Given the description of an element on the screen output the (x, y) to click on. 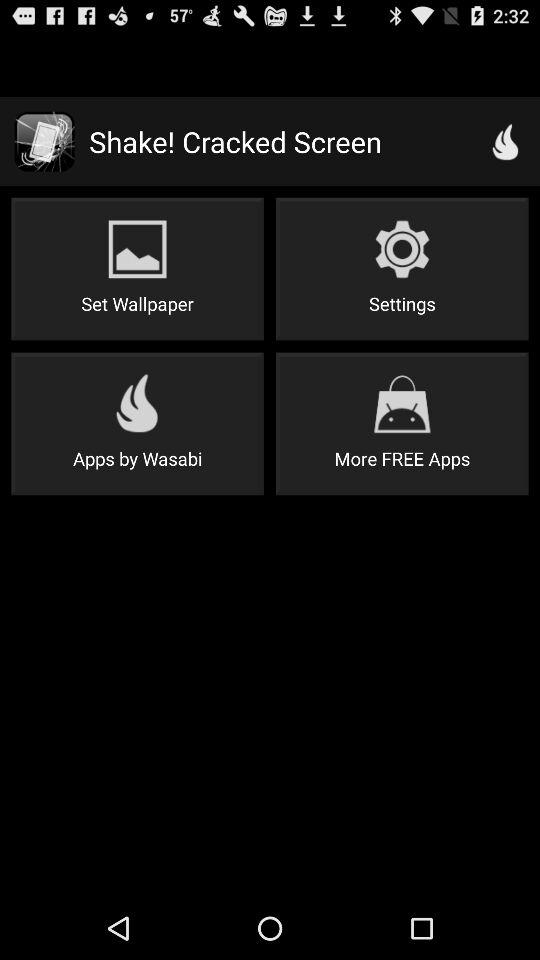
choose the more free apps button (402, 423)
